Given the description of an element on the screen output the (x, y) to click on. 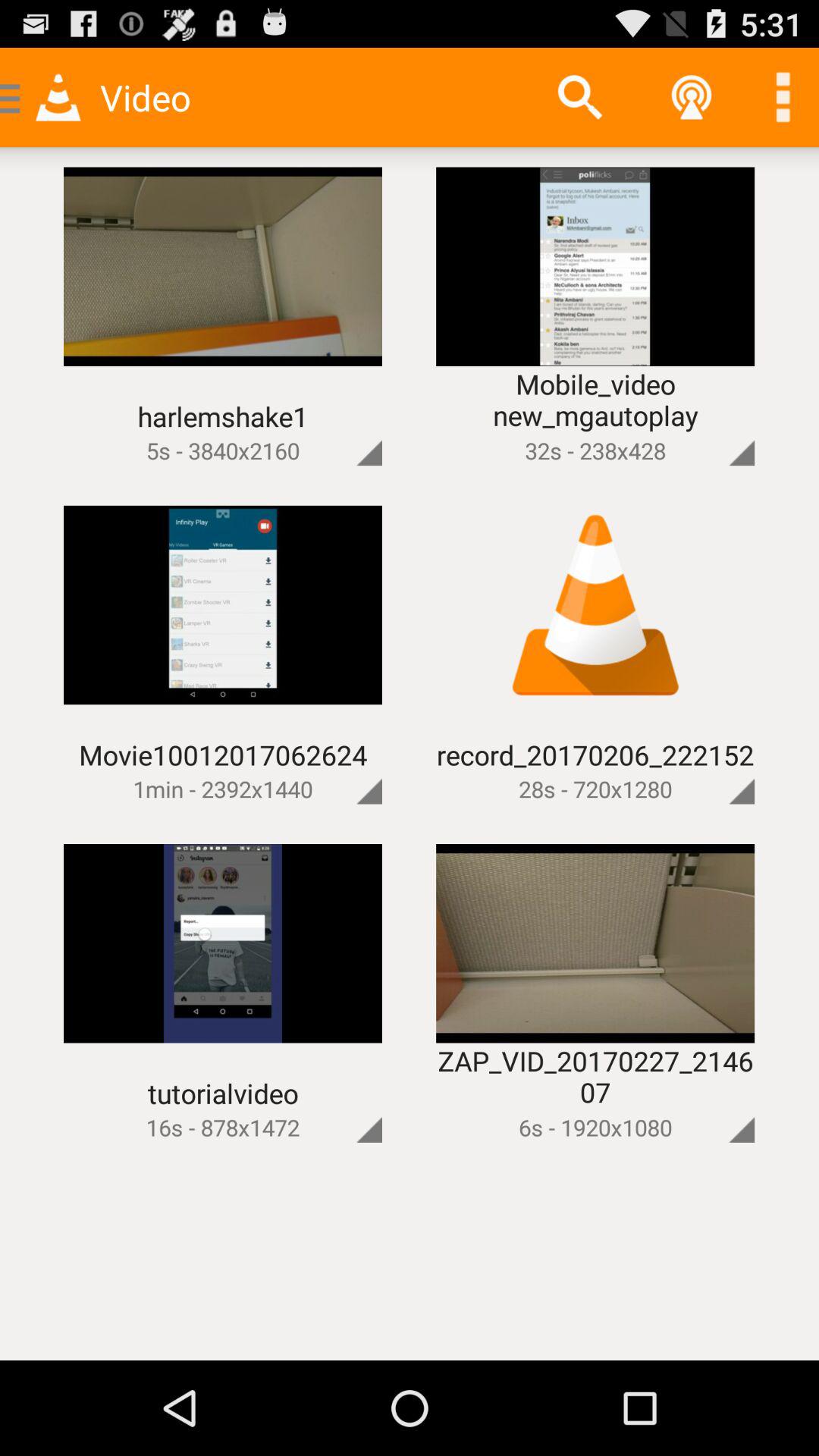
make bigger (715, 1103)
